Given the description of an element on the screen output the (x, y) to click on. 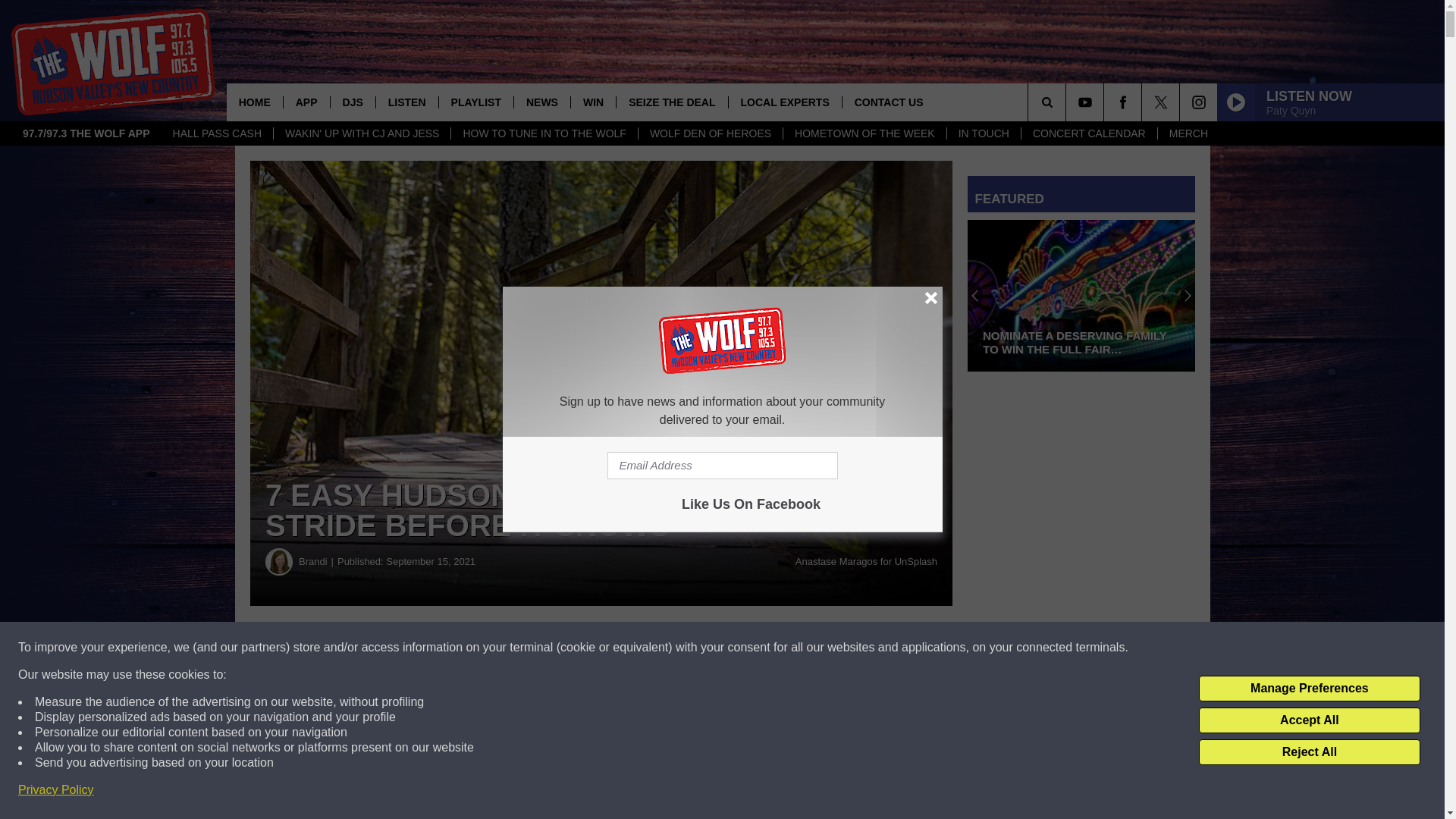
Privacy Policy (55, 789)
Email Address (722, 465)
WIN (592, 102)
SEARCH (1068, 102)
CONCERT CALENDAR (1088, 133)
SEARCH (1068, 102)
IN TOUCH (983, 133)
Share on Twitter (741, 647)
WOLF DEN OF HEROES (710, 133)
WAKIN' UP WITH CJ AND JESS (361, 133)
HOMETOWN OF THE WEEK (864, 133)
HOME (254, 102)
Reject All (1309, 751)
SEIZE THE DEAL (670, 102)
MERCH (1188, 133)
